Given the description of an element on the screen output the (x, y) to click on. 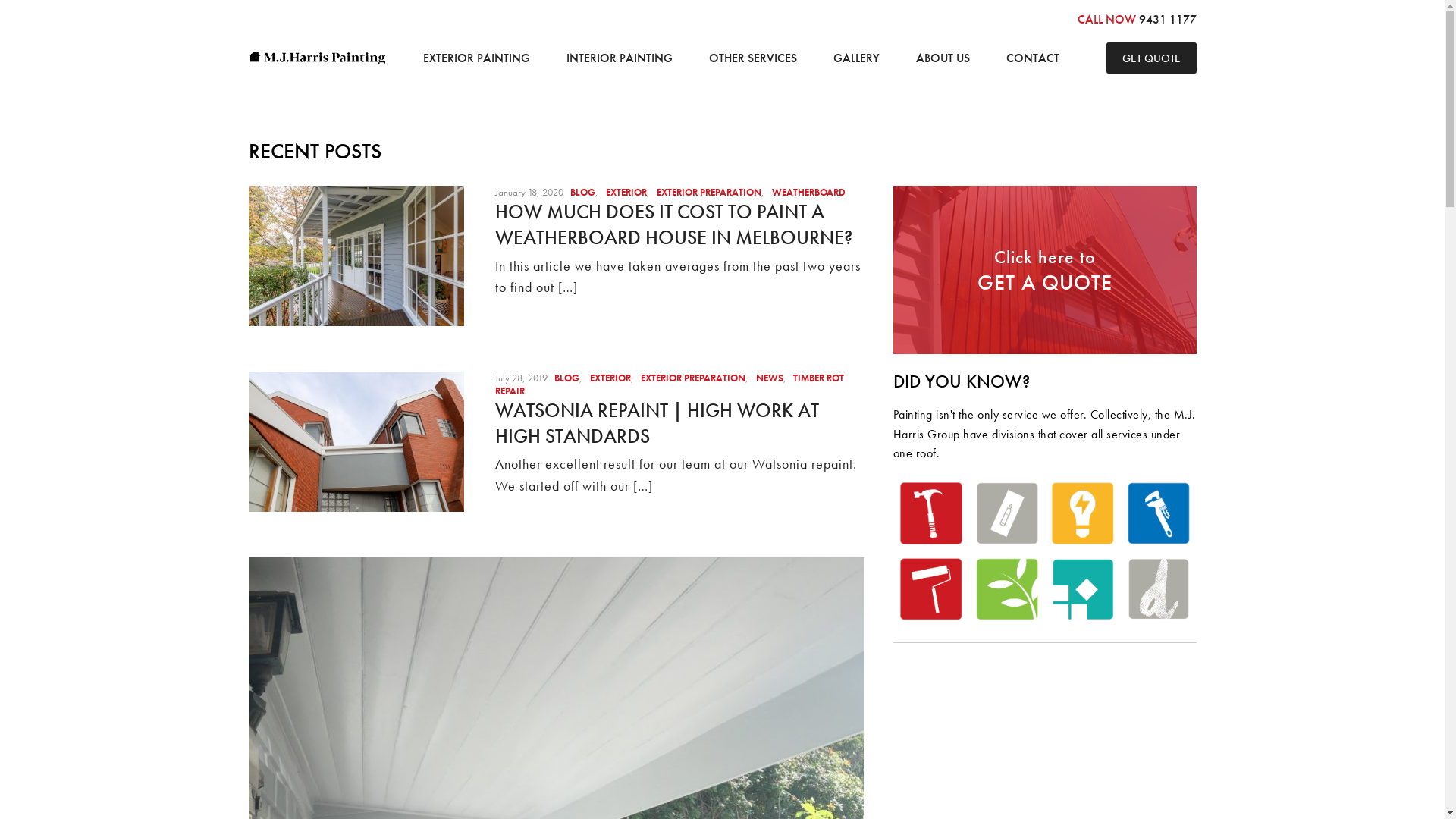
M.J. Harris Painting Element type: hover (316, 57)
WATSONIA REPAINT | HIGH WORK AT HIGH STANDARDS Element type: text (656, 422)
TIMBER ROT REPAIR Element type: text (669, 384)
GALLERY Element type: text (856, 58)
NEWS Element type: text (768, 377)
ABOUT US Element type: text (942, 58)
M.J. Harris Tiling Element type: hover (1082, 589)
M.J. Harris Design Element type: hover (1158, 589)
CALL NOW 9431 1177 Element type: text (1135, 19)
EXTERIOR PAINTING Element type: text (476, 58)
M.J. Harris Painting Element type: hover (931, 589)
EXTERIOR PREPARATION Element type: text (692, 377)
BLOG Element type: text (566, 377)
M.J. Harris Plumbing Element type: hover (1158, 513)
EXTERIOR Element type: text (625, 191)
M.J. Harris Electrical Element type: hover (1082, 513)
M.J. Harris Plastering Element type: hover (1006, 513)
M.J. Harris Landscaping Element type: hover (1006, 589)
EXTERIOR Element type: text (609, 377)
BLOG Element type: text (582, 191)
GET QUOTE Element type: text (1150, 57)
CONTACT Element type: text (1032, 58)
OTHER SERVICES Element type: text (753, 58)
INTERIOR PAINTING Element type: text (619, 58)
M.J. Harris Carpentry Element type: hover (931, 513)
WEATHERBOARD Element type: text (808, 191)
EXTERIOR PREPARATION Element type: text (708, 191)
Click here to
GET A QUOTE Element type: text (1044, 269)
